Given the description of an element on the screen output the (x, y) to click on. 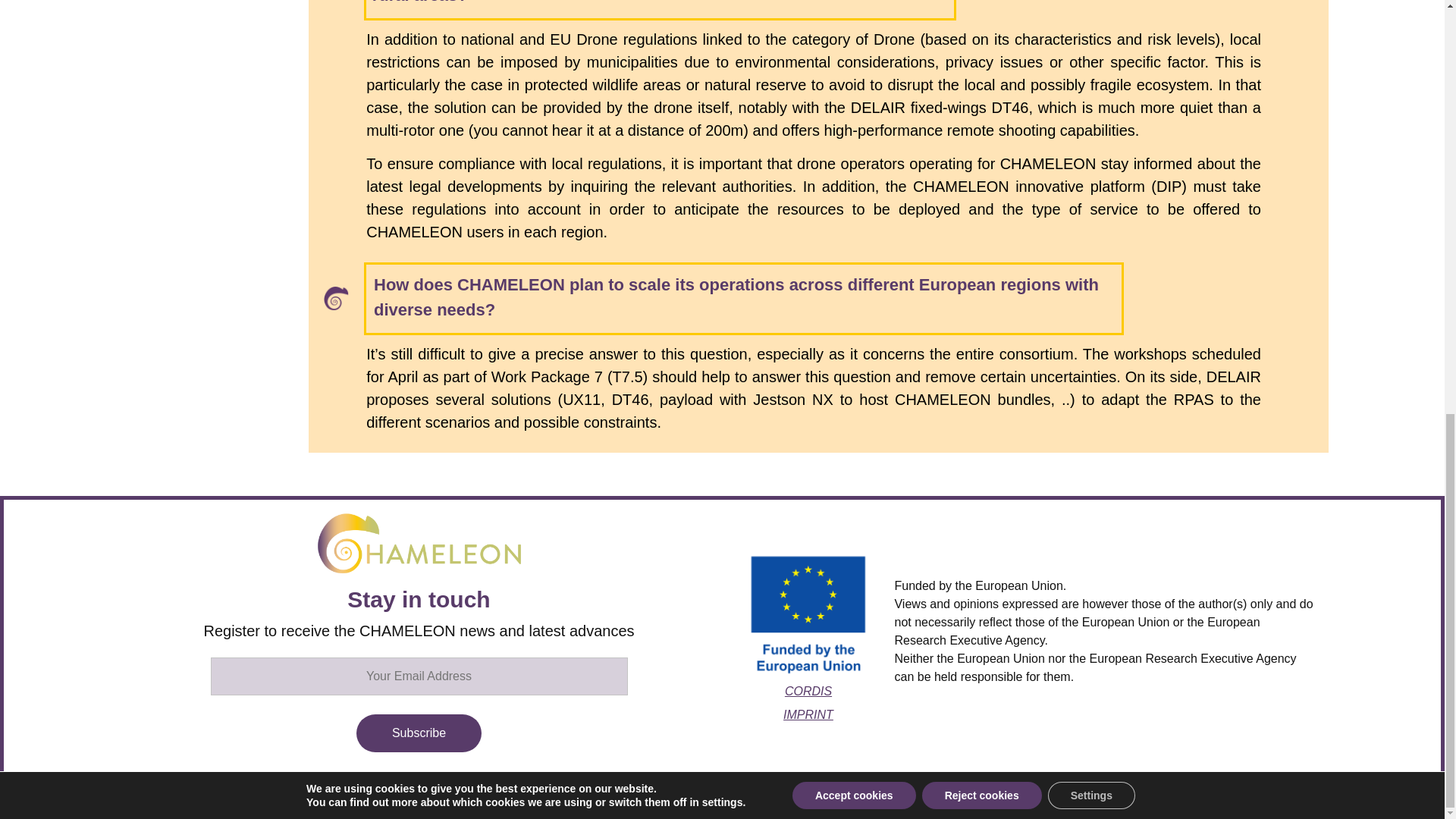
Subscribe (418, 732)
IMPRINT (807, 714)
CORDIS (807, 690)
